Given the description of an element on the screen output the (x, y) to click on. 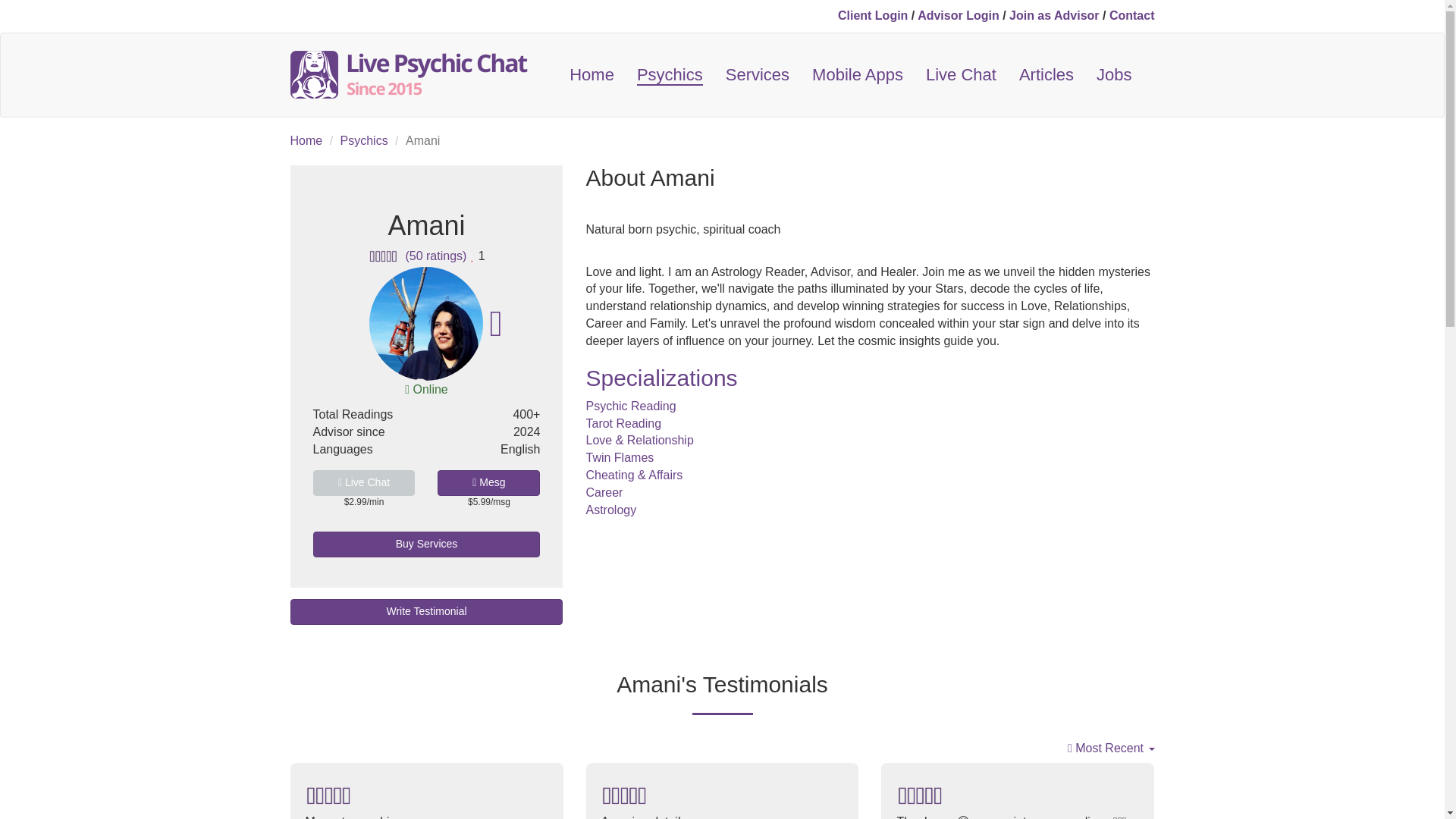
Astrology (610, 509)
Services (757, 75)
Write Testimonial (425, 611)
Buy Services (426, 544)
Contact (1131, 15)
Services (757, 75)
Psychics (670, 75)
Contact (1131, 15)
Career (604, 492)
Write Testimonial (425, 611)
